Given the description of an element on the screen output the (x, y) to click on. 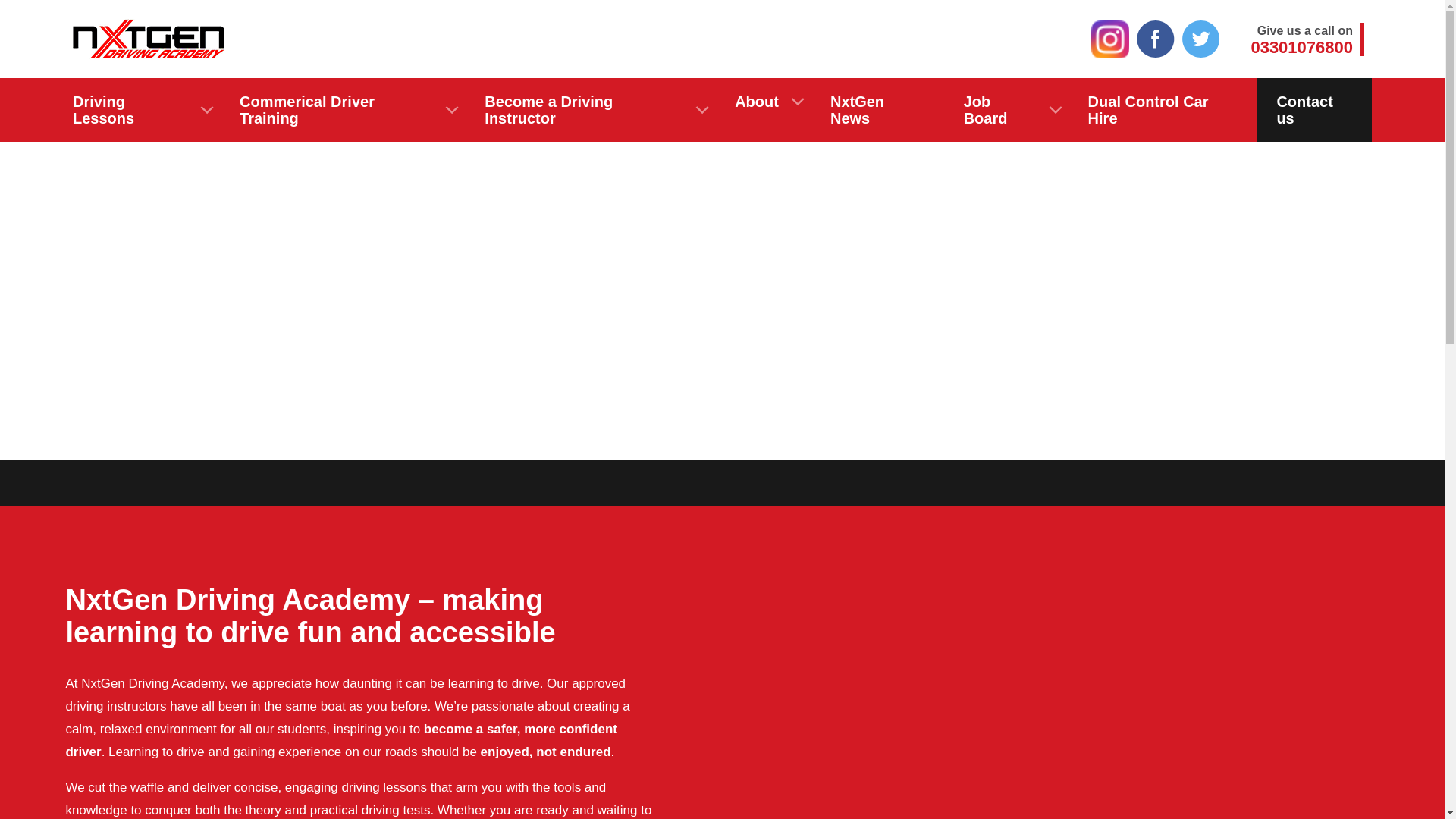
Job Board (1006, 109)
Contact us (1314, 109)
Become a Driving Instructor (590, 109)
Dual Control Car Hire (1162, 109)
Commerical Driver Training (343, 109)
NxtGen News (1307, 39)
Driving Lessons (877, 109)
About (146, 109)
